Given the description of an element on the screen output the (x, y) to click on. 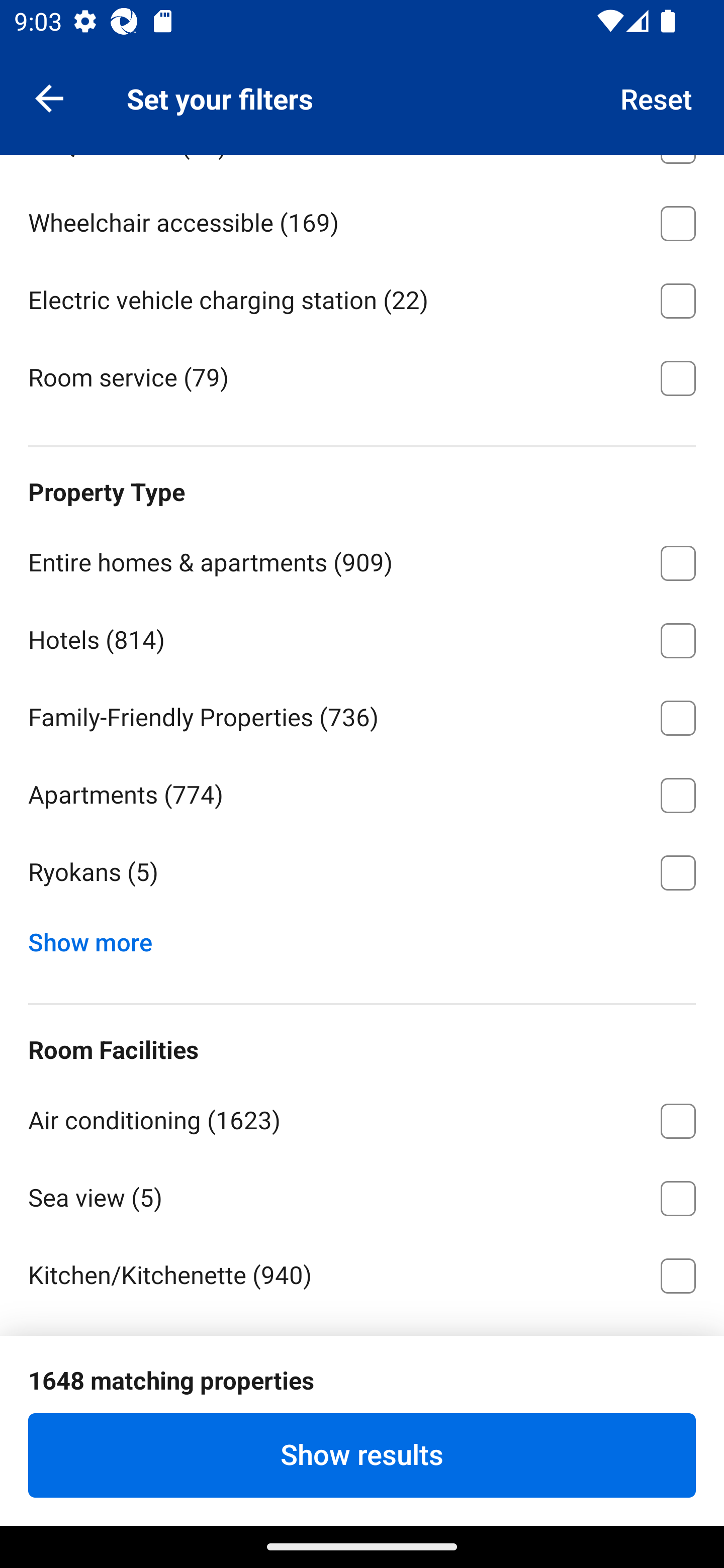
Navigate up (49, 97)
Reset (656, 97)
Wheelchair accessible ⁦(169) (361, 219)
Electric vehicle charging station ⁦(22) (361, 296)
Room service ⁦(79) (361, 376)
Entire homes & apartments ⁦(909) (361, 559)
Hotels ⁦(814) (361, 636)
Family-Friendly Properties ⁦(736) (361, 713)
Apartments ⁦(774) (361, 791)
Ryokans ⁦(5) (361, 873)
Show more (97, 938)
Air conditioning ⁦(1623) (361, 1117)
Sea view ⁦(5) (361, 1195)
Kitchen/Kitchenette ⁦(940) (361, 1272)
Show results (361, 1454)
